Given the description of an element on the screen output the (x, y) to click on. 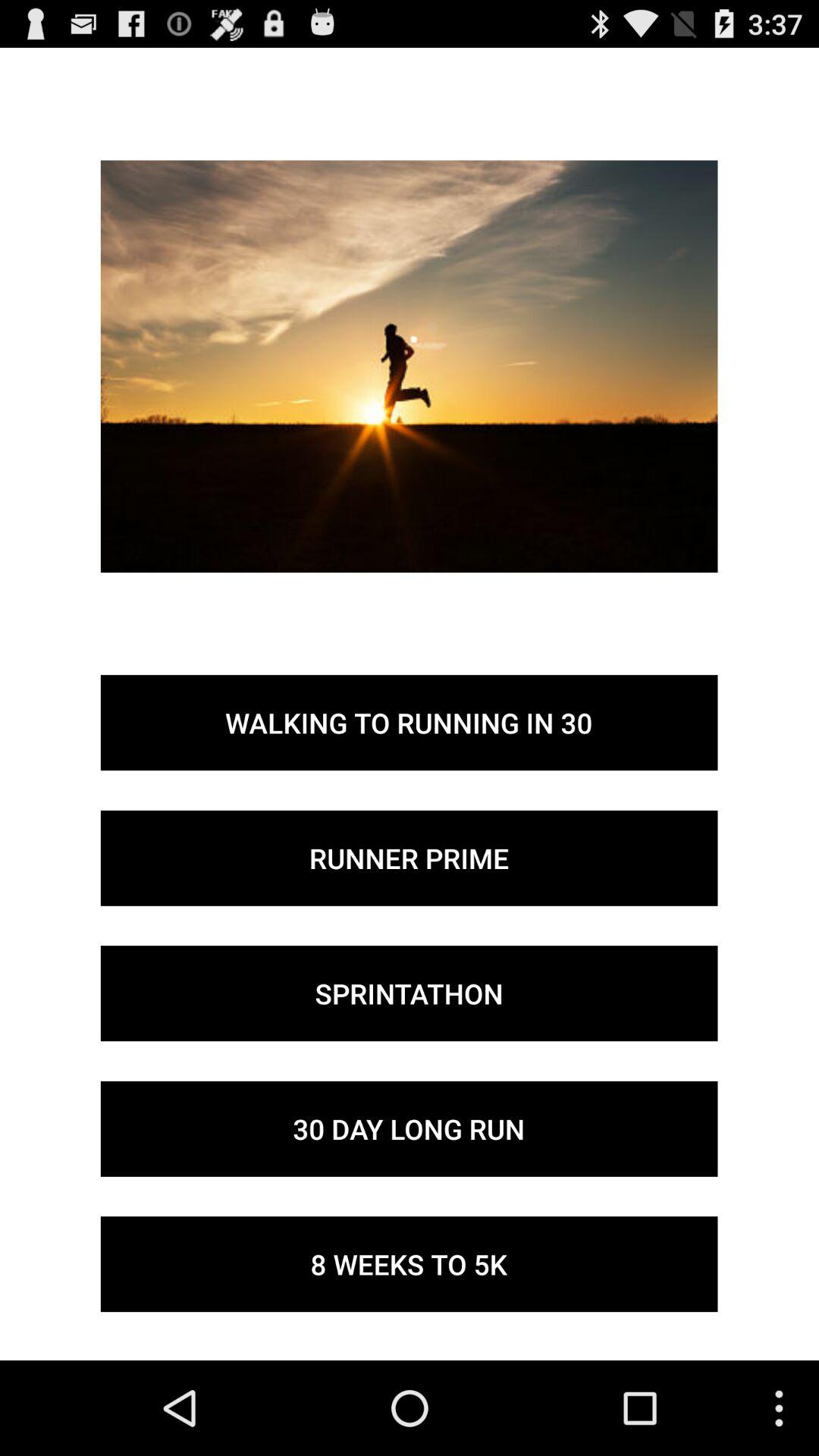
turn on the button above the sprintathon item (408, 858)
